Given the description of an element on the screen output the (x, y) to click on. 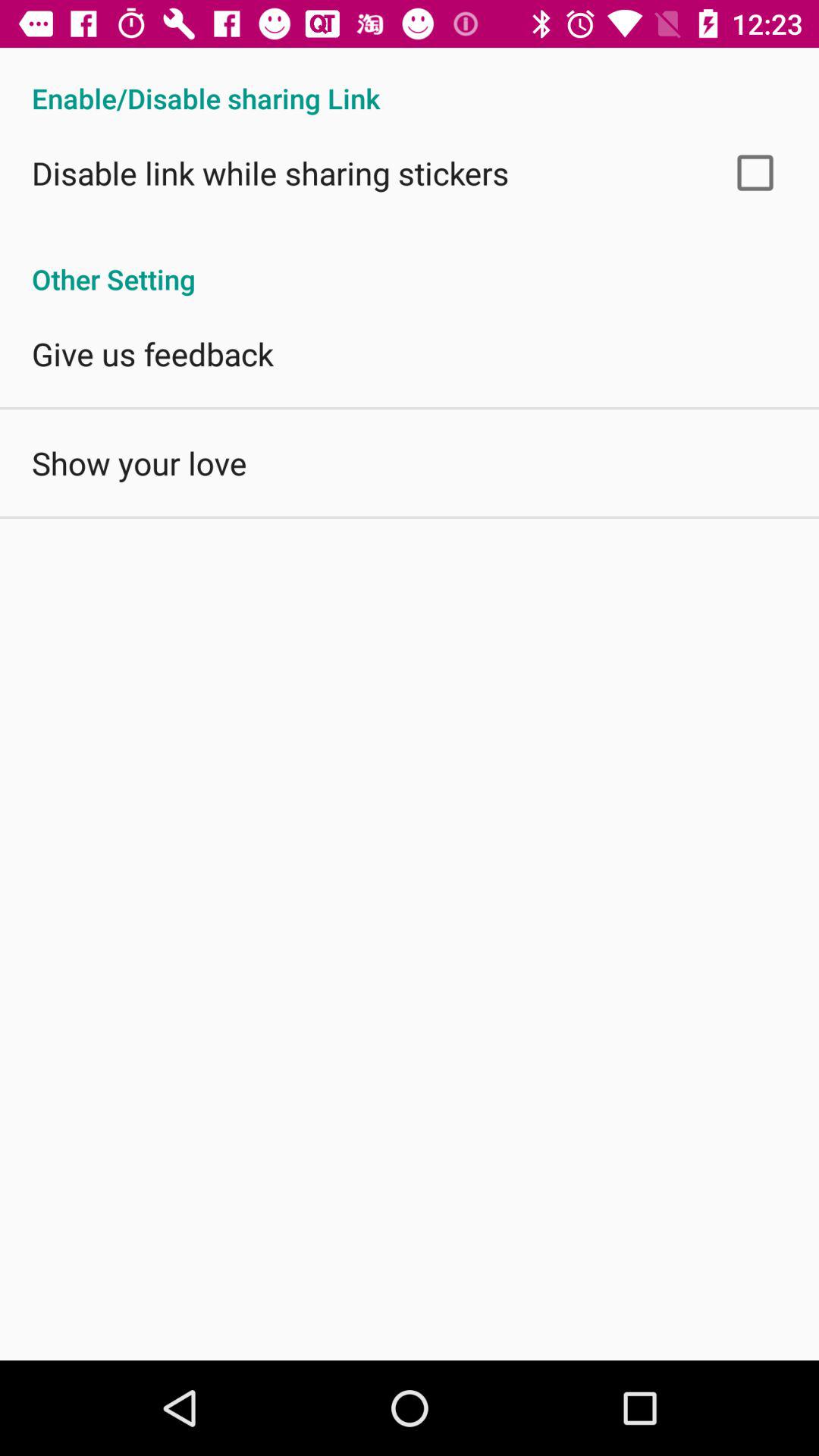
press other setting app (409, 263)
